Given the description of an element on the screen output the (x, y) to click on. 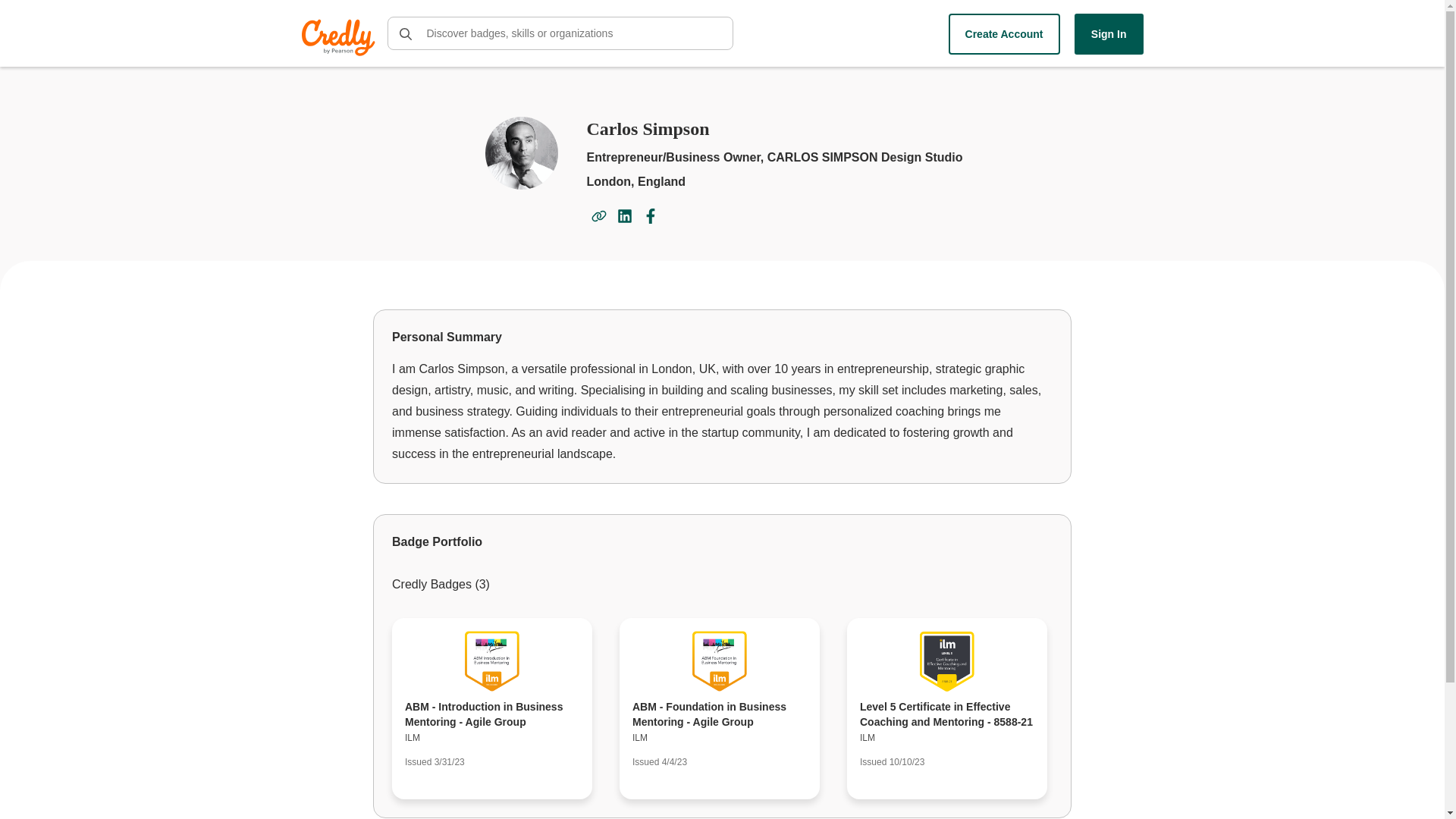
facebook-link (650, 215)
website-link (598, 216)
facebook-link (650, 216)
Credly (340, 37)
linkedin-link (624, 216)
Sign In (1108, 33)
linkedin-link (624, 215)
Create Account (1004, 33)
website-link (599, 215)
